Given the description of an element on the screen output the (x, y) to click on. 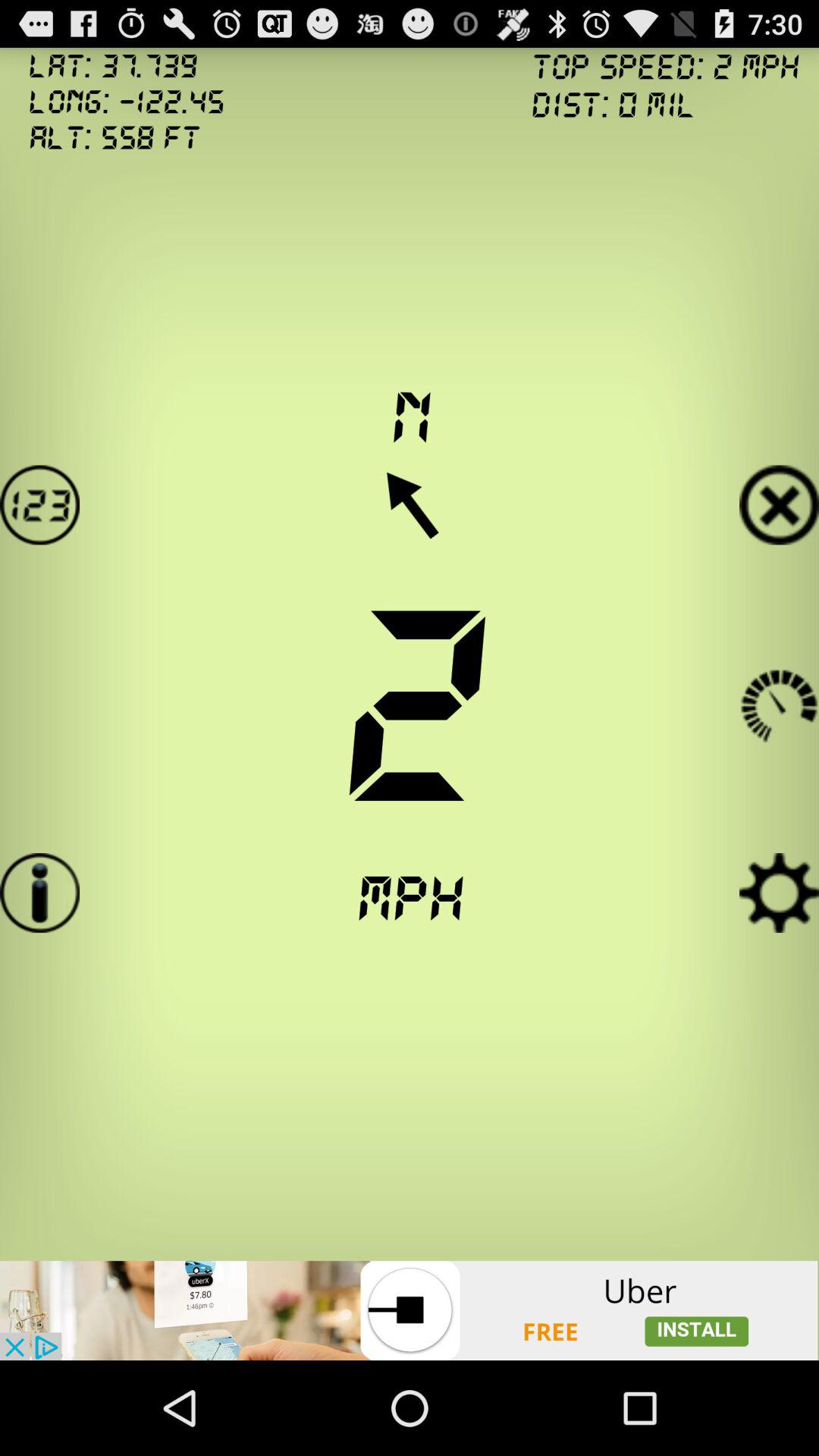
view information (39, 892)
